Given the description of an element on the screen output the (x, y) to click on. 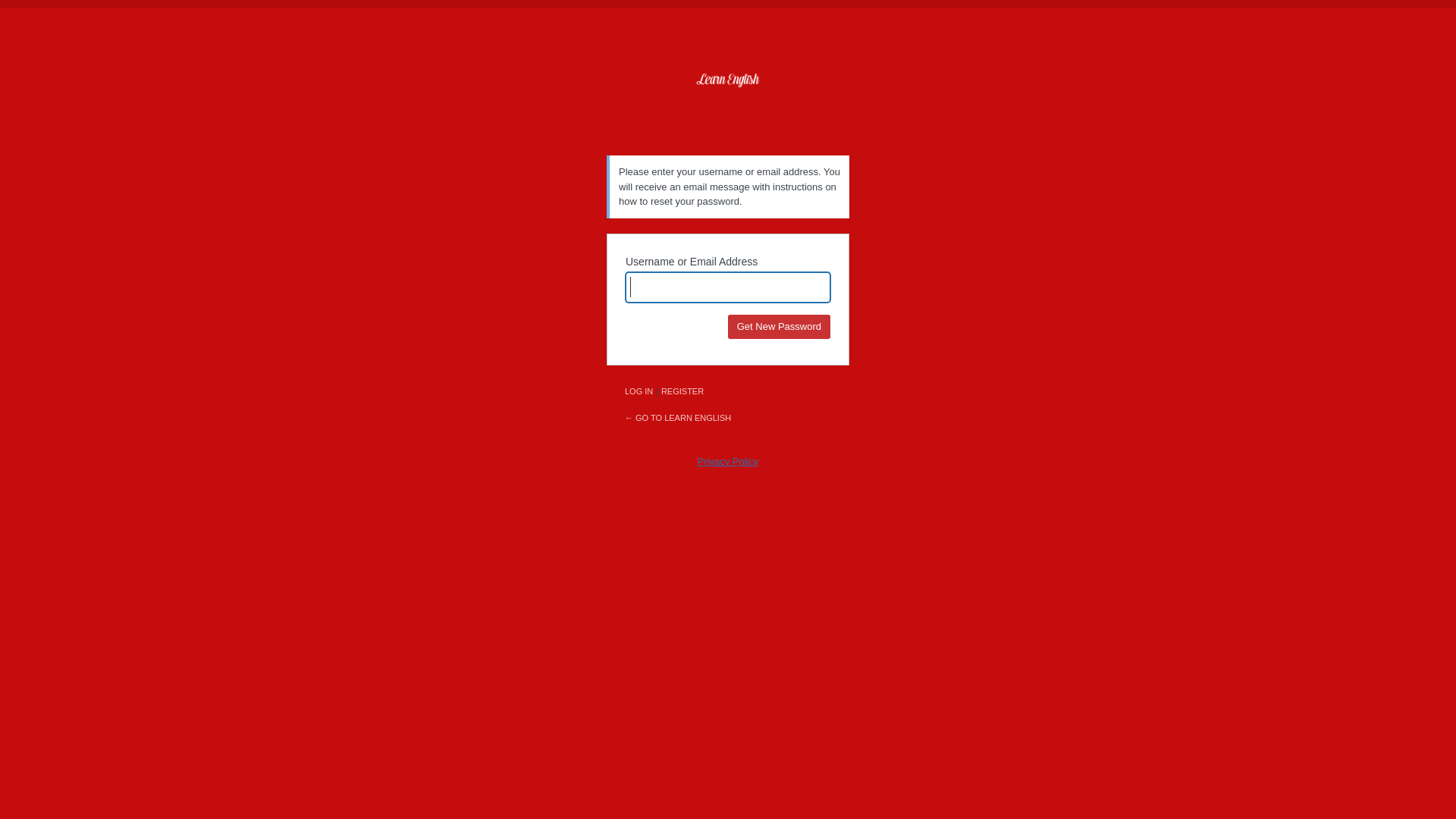
Privacy Policy Element type: text (728, 460)
Learn English Element type: text (727, 104)
LOG IN Element type: text (638, 390)
Get New Password Element type: text (779, 325)
REGISTER Element type: text (682, 390)
